Given the description of an element on the screen output the (x, y) to click on. 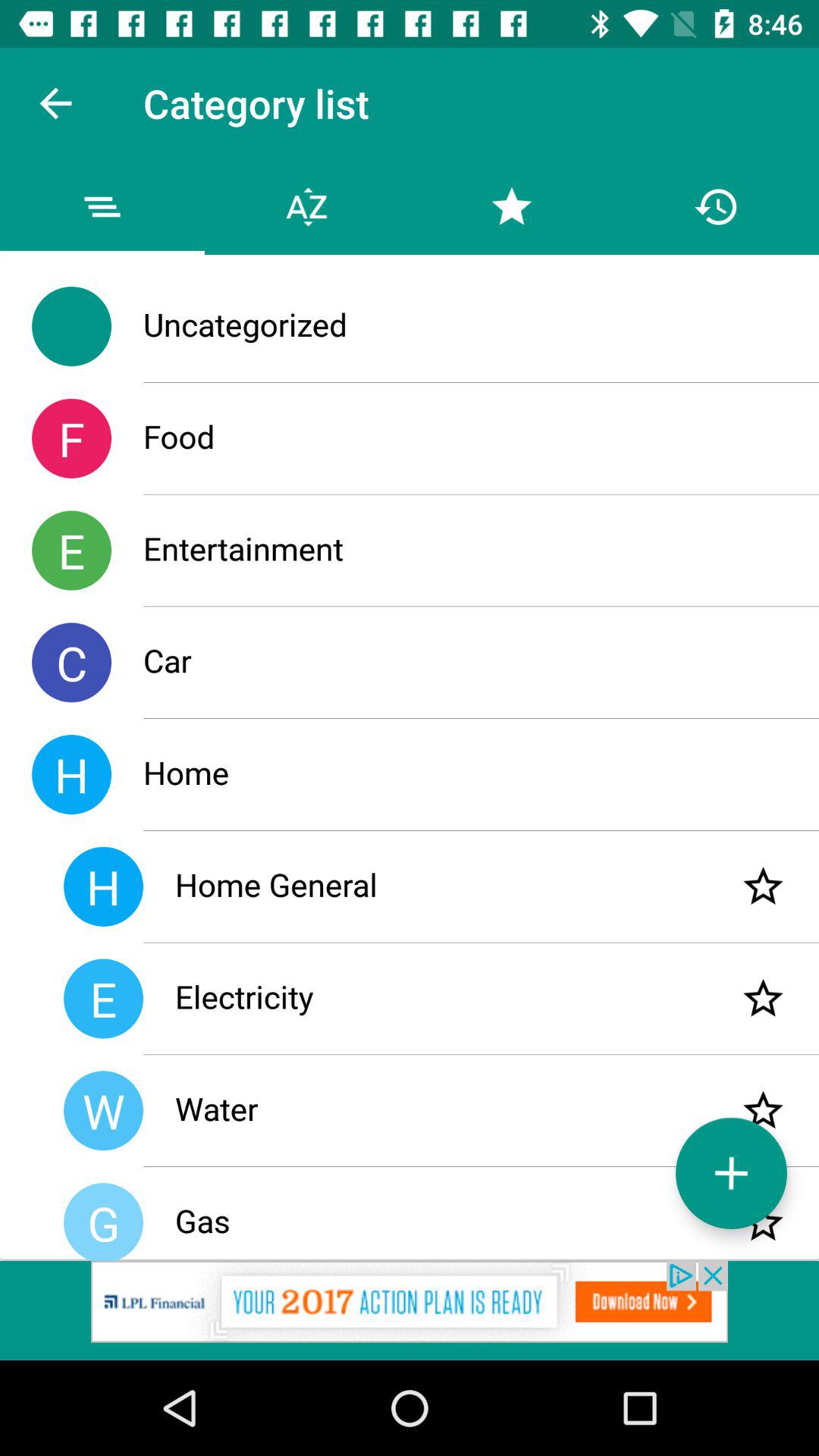
add a category (731, 1173)
